Given the description of an element on the screen output the (x, y) to click on. 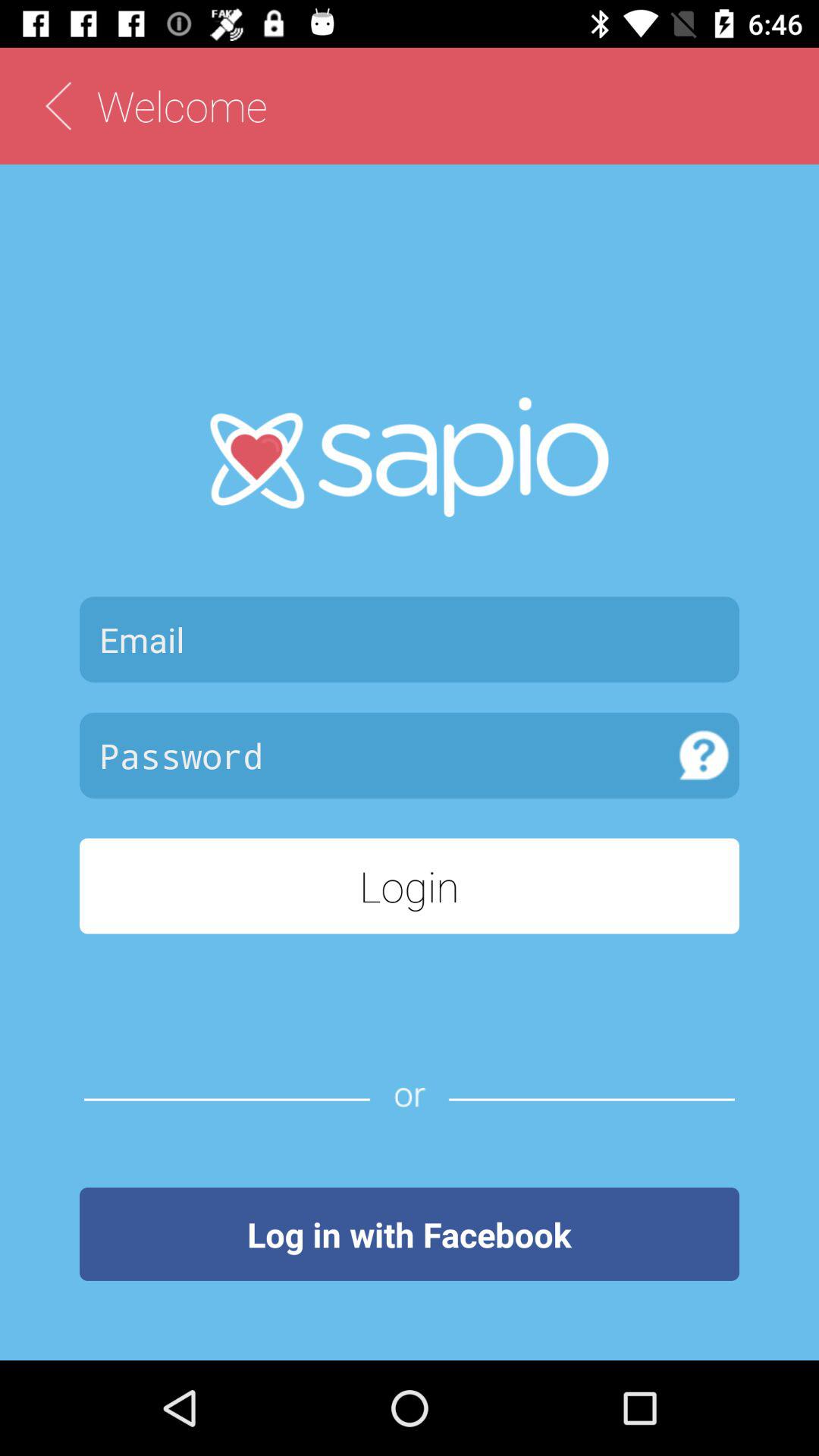
activate password questions icon (703, 755)
